Given the description of an element on the screen output the (x, y) to click on. 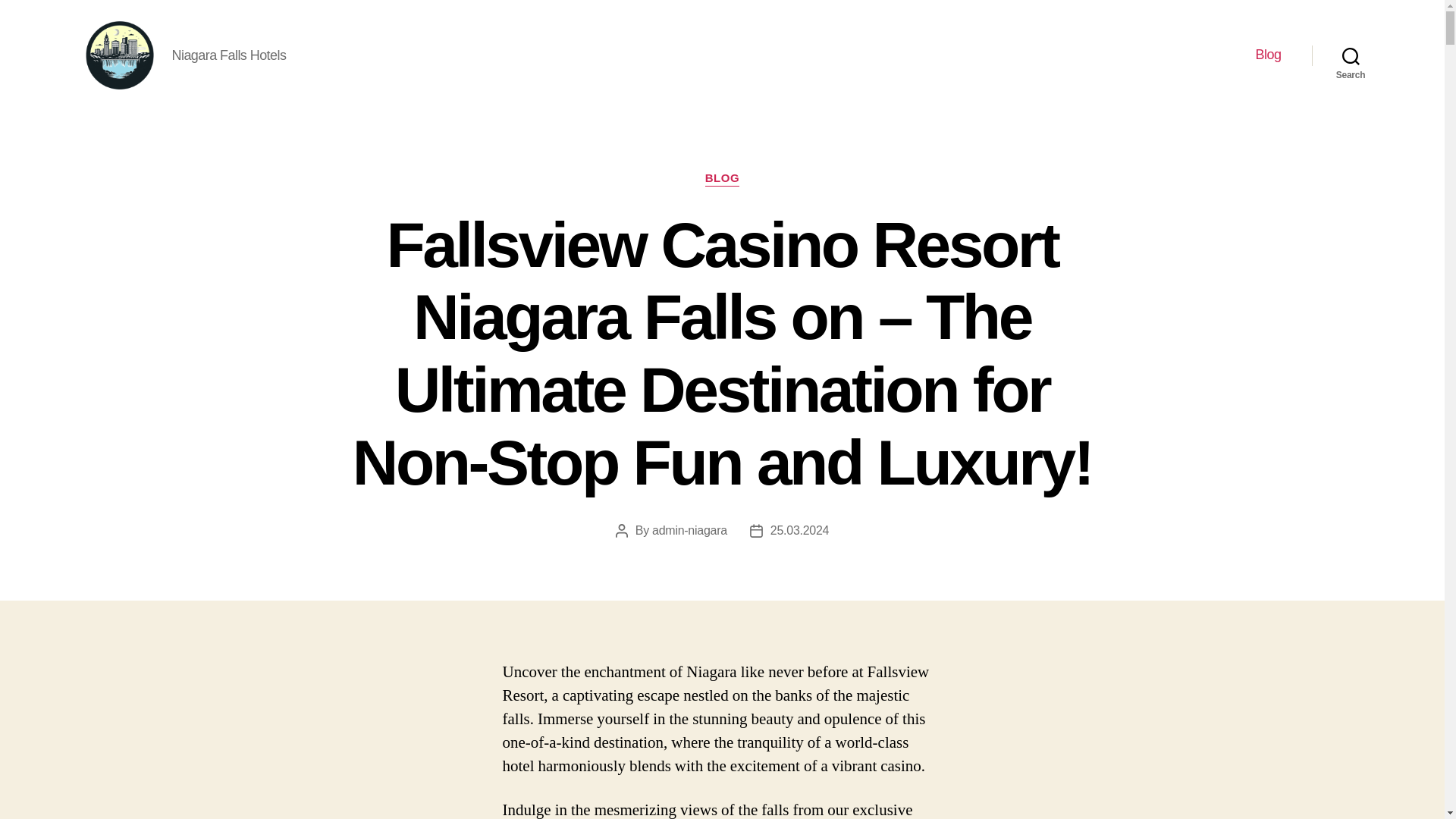
admin-niagara (689, 530)
25.03.2024 (799, 530)
Blog (1268, 54)
BLOG (721, 178)
Search (1350, 55)
